Given the description of an element on the screen output the (x, y) to click on. 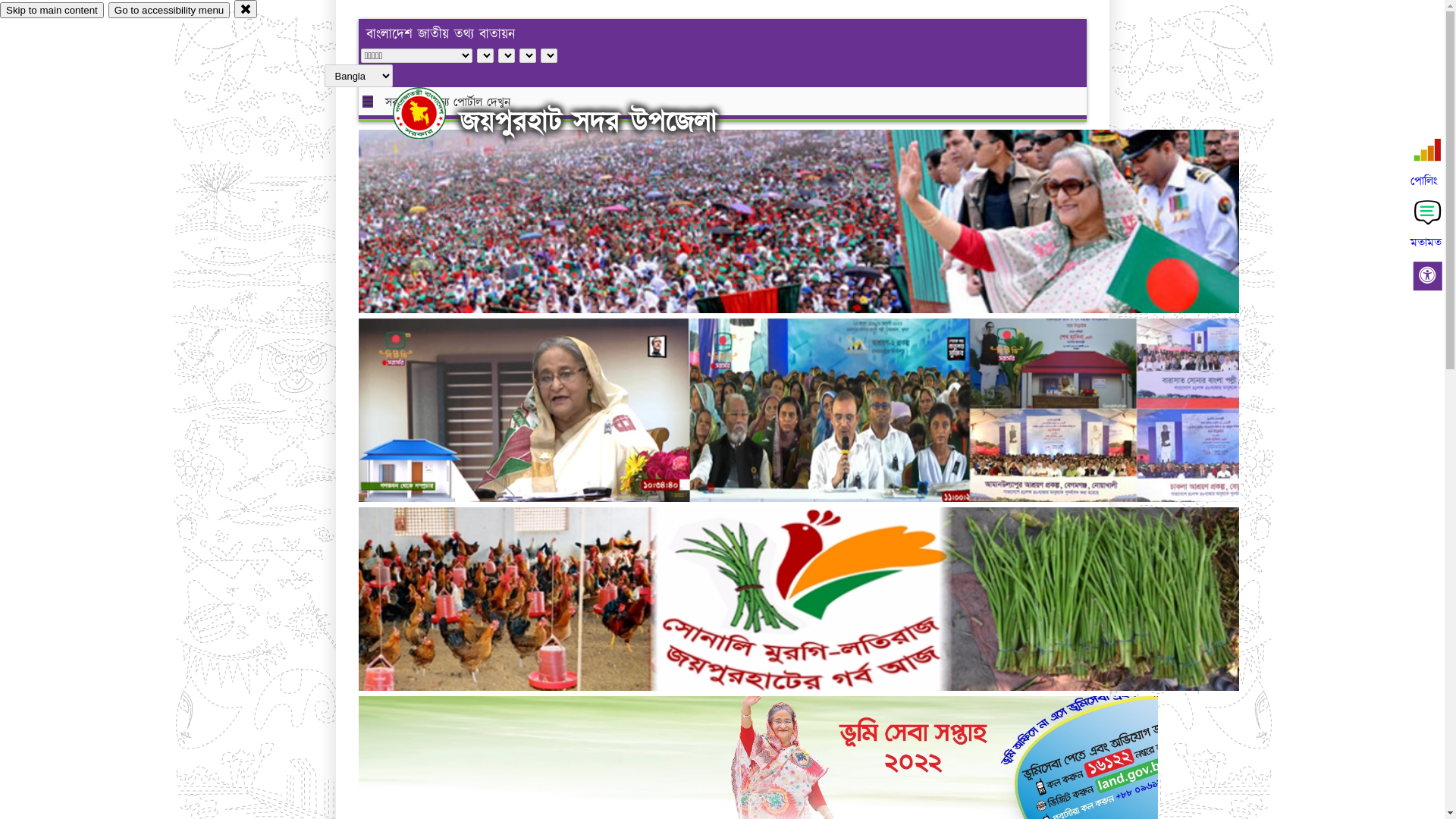
Go to accessibility menu Element type: text (168, 10)

                
             Element type: hover (431, 112)
Skip to main content Element type: text (51, 10)
close Element type: hover (245, 9)
